Given the description of an element on the screen output the (x, y) to click on. 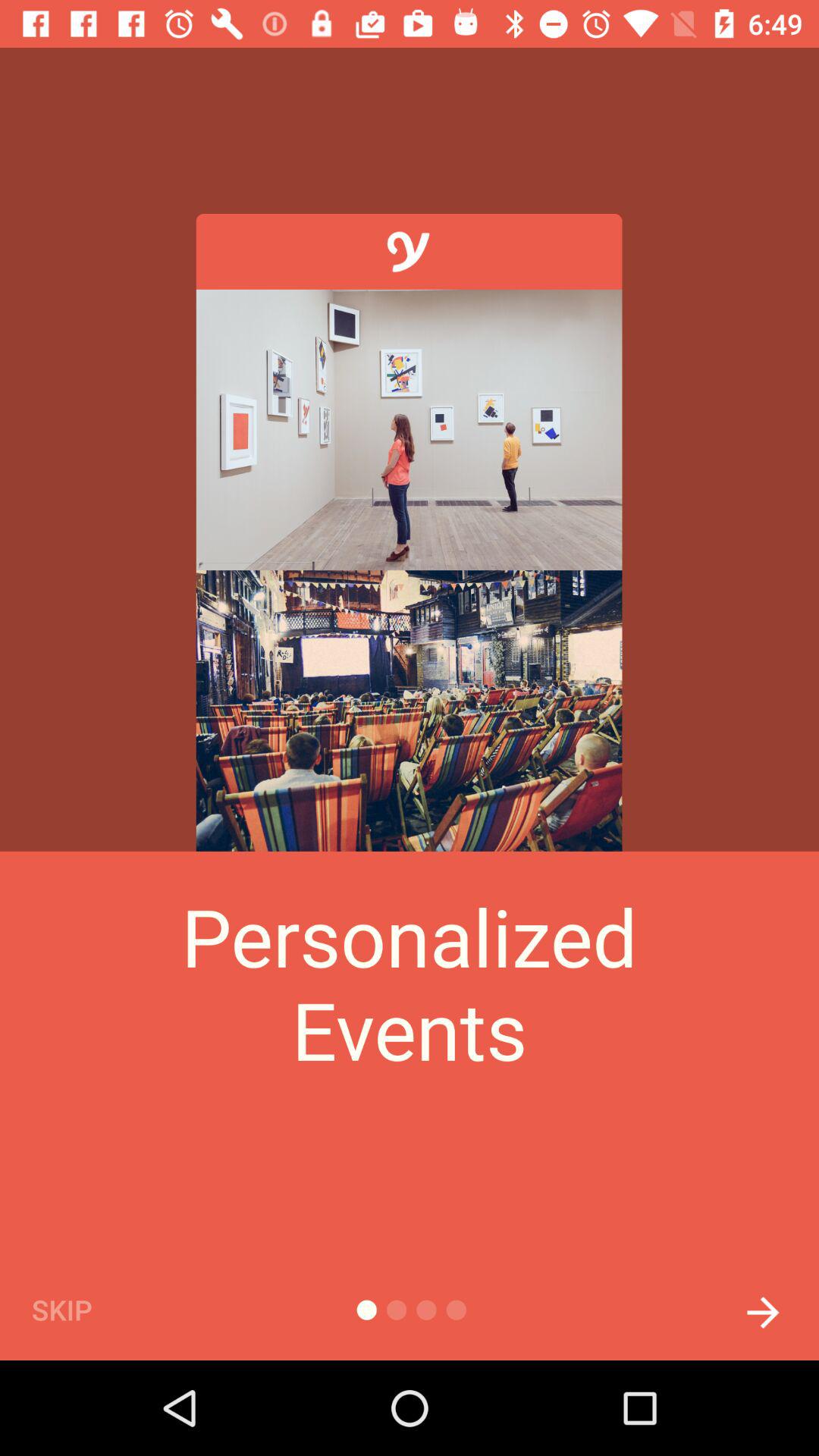
select item at the bottom right corner (763, 1308)
